Given the description of an element on the screen output the (x, y) to click on. 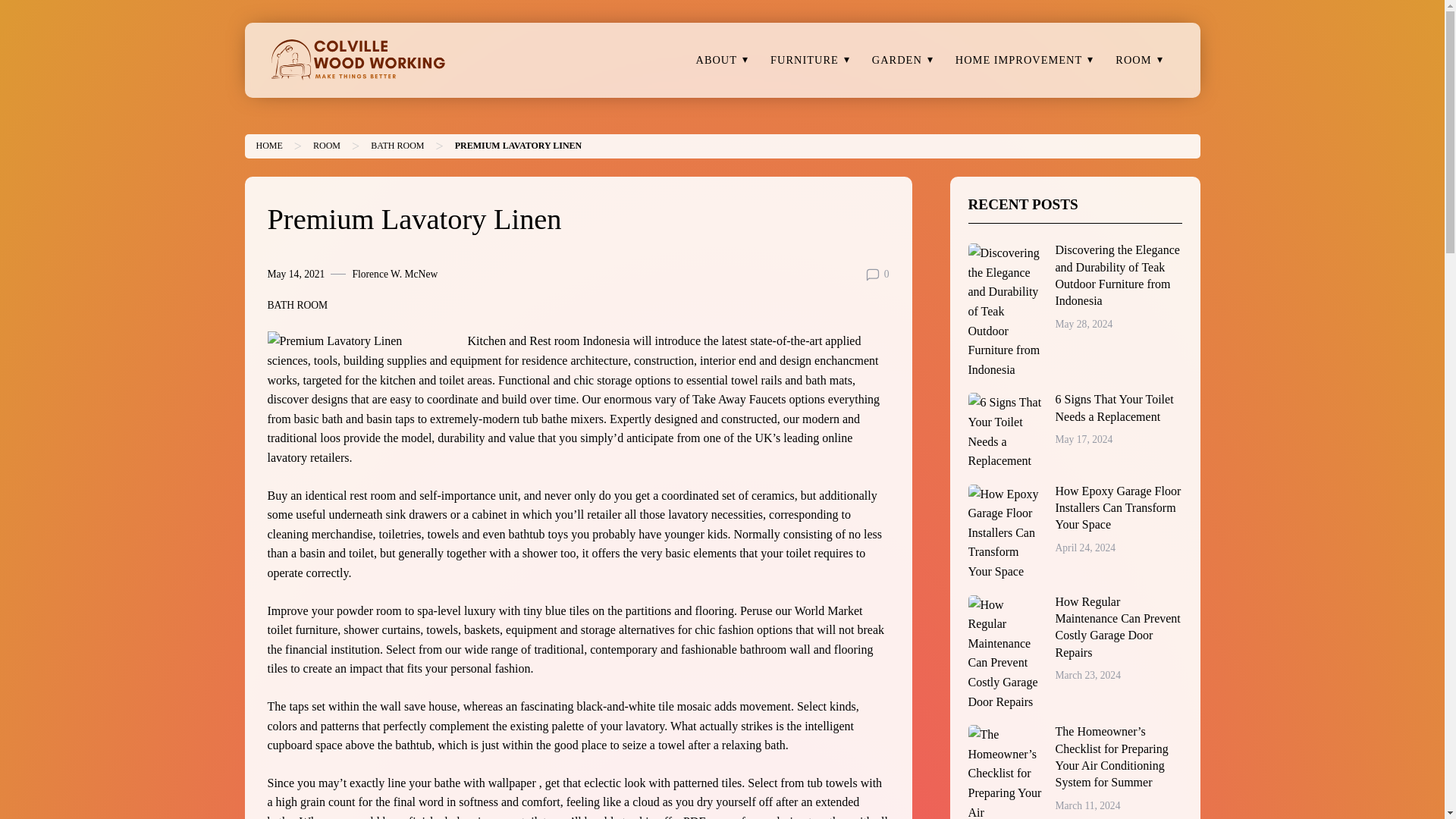
Premium Lavatory Linen (518, 145)
FURNITURE (804, 60)
Premium Lavatory Linen (363, 341)
Home (269, 145)
GARDEN (897, 60)
HOME IMPROVEMENT (1018, 60)
ROOM (1133, 60)
ABOUT (715, 60)
6 Signs That Your Toilet Needs a Replacement (1005, 431)
